Given the description of an element on the screen output the (x, y) to click on. 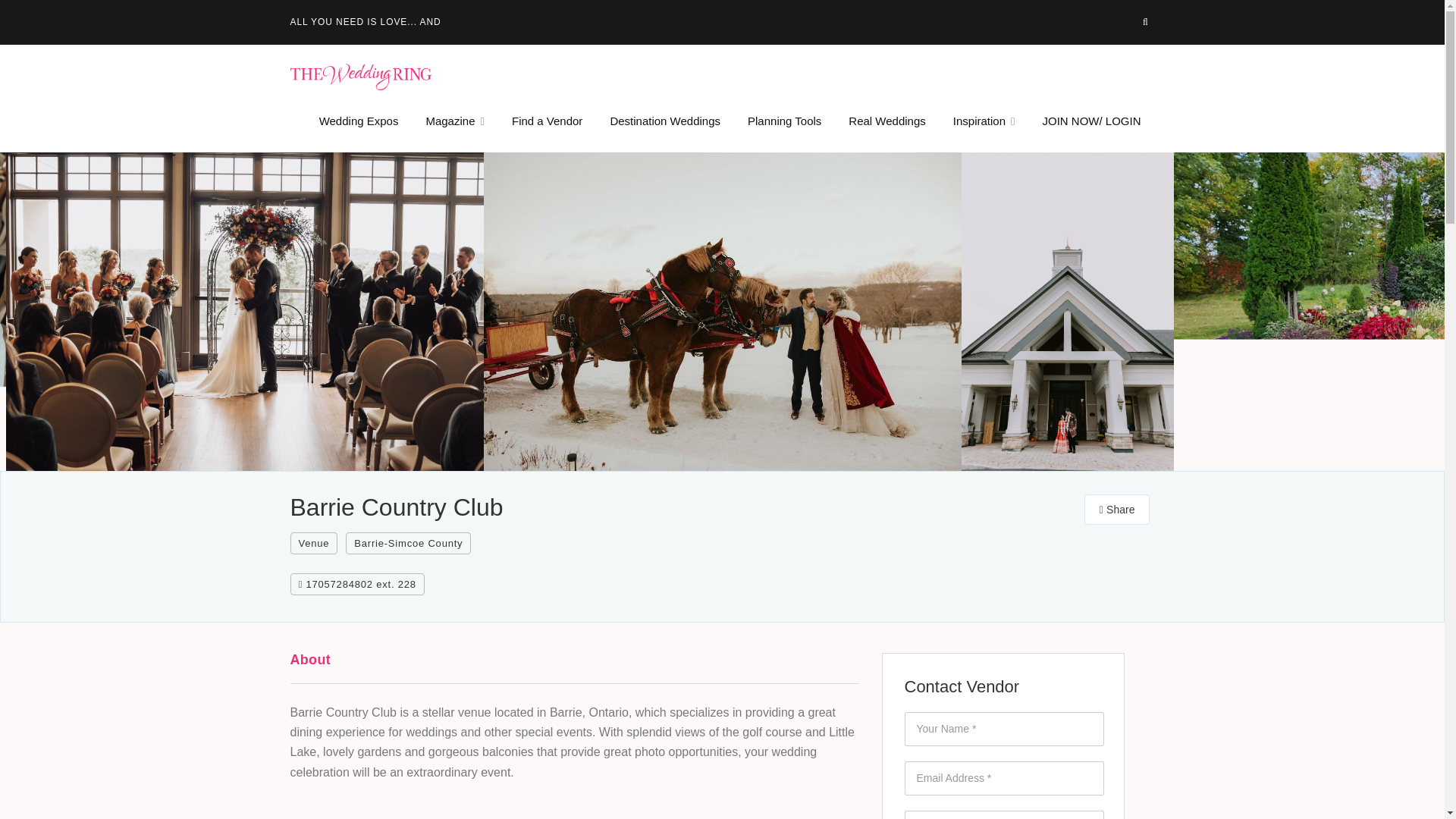
Barrie-Simcoe County (408, 543)
Wedding Expos (358, 120)
Inspiration (984, 120)
Planning Tools (784, 120)
Find a Vendor (547, 120)
Destination Weddings (665, 120)
Venue (313, 543)
Share (1117, 509)
17057284802 ext. 228 (356, 584)
Real Weddings (886, 120)
Magazine (454, 120)
